Given the description of an element on the screen output the (x, y) to click on. 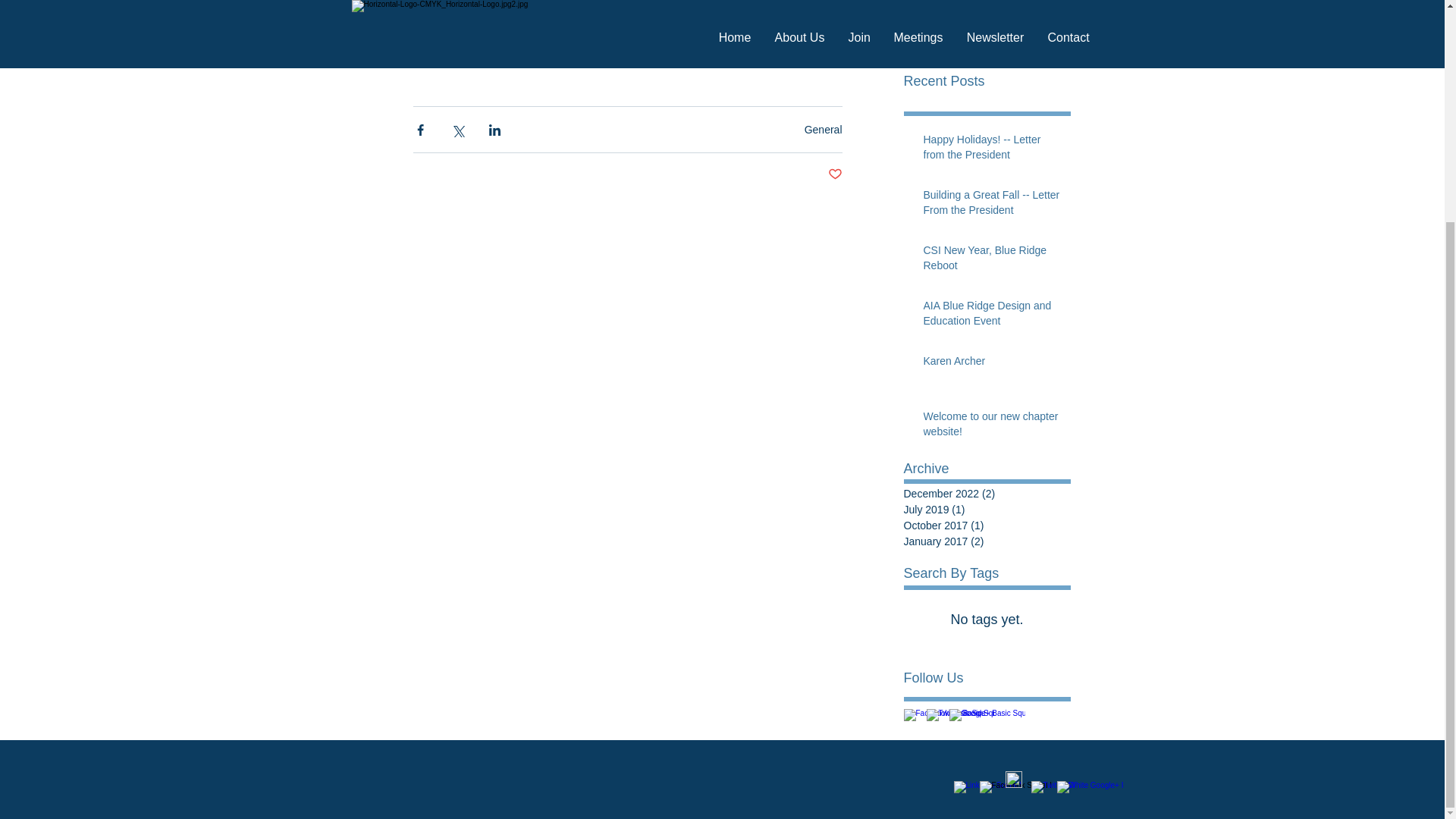
General (824, 128)
CSI New Year, Blue Ridge Reboot (987, 23)
Happy Holidays! -- Letter from the President (992, 150)
Building a Great Fall -- Letter From the President (992, 205)
Post not marked as liked (835, 174)
CSI New Year, Blue Ridge Reboot (992, 261)
AIA Blue Ridge Design and Education Event (992, 316)
Welcome to our new chapter website! (992, 427)
CSI New Year, Blue Ridge Reboot (987, 23)
Karen Archer (992, 364)
